Given the description of an element on the screen output the (x, y) to click on. 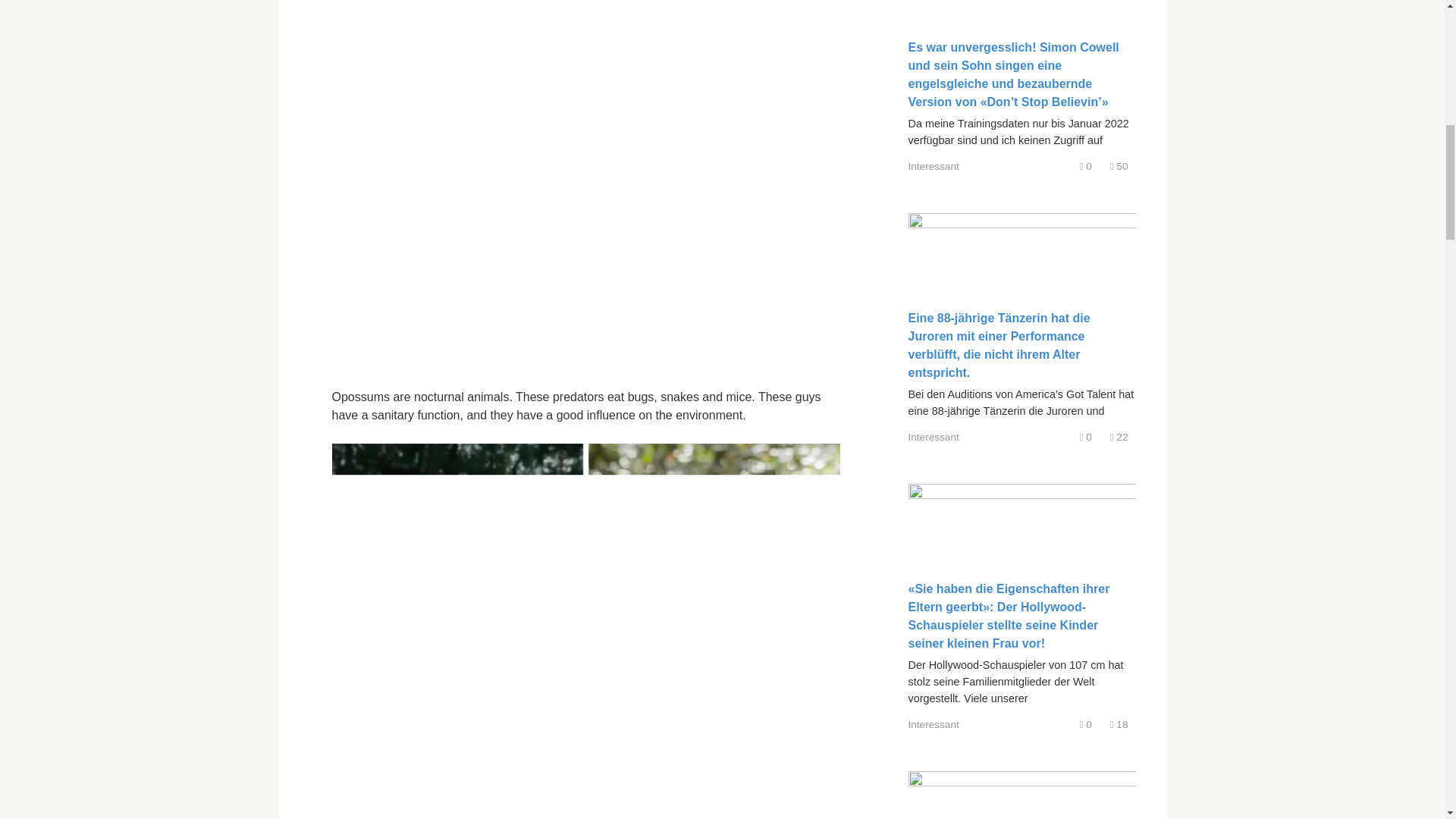
Interessant (933, 437)
Interessant (933, 165)
Interessant (933, 724)
